Given the description of an element on the screen output the (x, y) to click on. 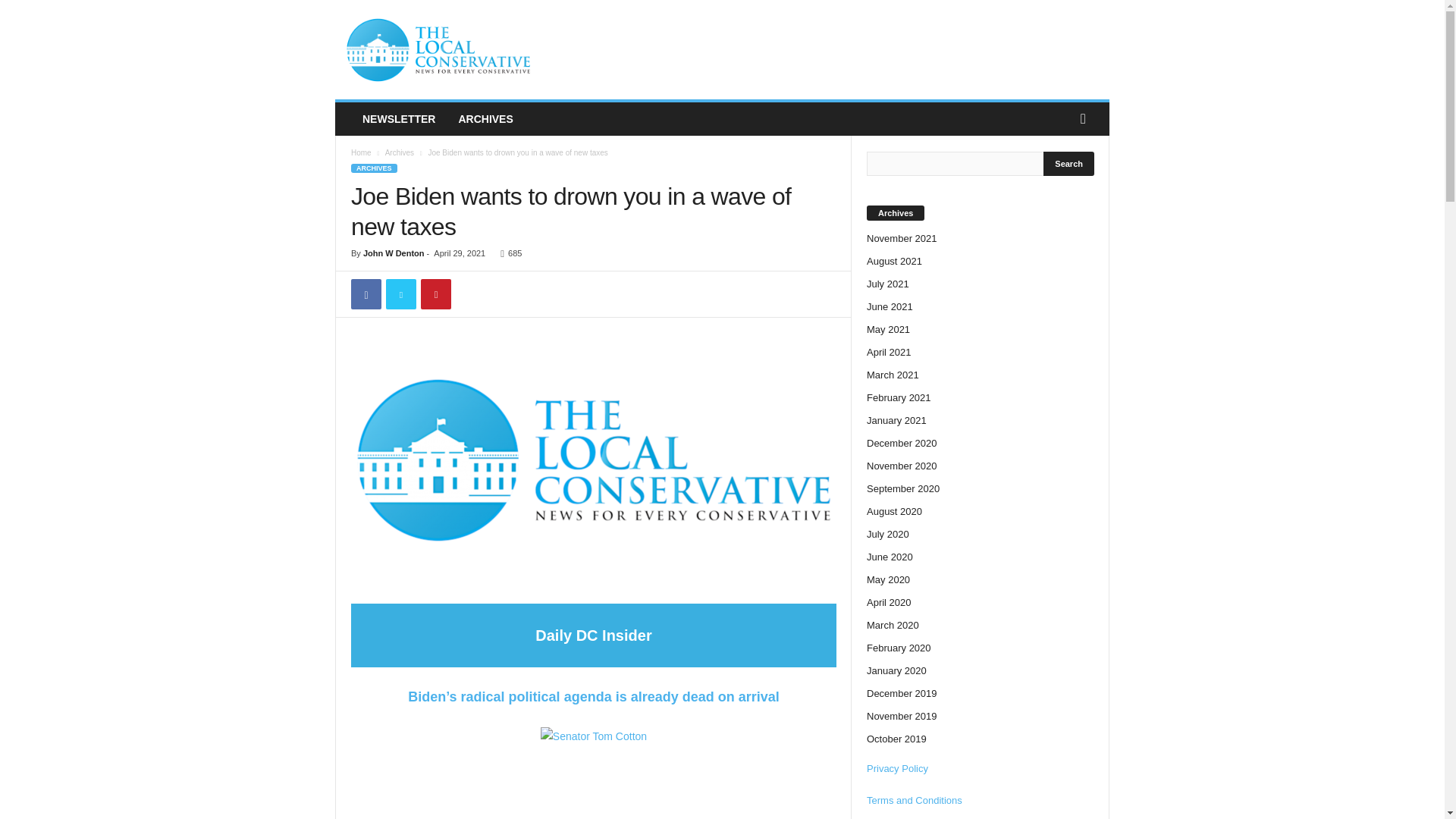
The Local Conservative (437, 49)
View all posts in Archives (399, 152)
NEWSLETTER (398, 118)
Archives (399, 152)
Archives Featured Image Main (592, 460)
Search (1068, 163)
Home (360, 152)
ARCHIVES (485, 118)
ARCHIVES (373, 167)
John W Denton (393, 252)
Senator Tom Cotton (593, 770)
